Given the description of an element on the screen output the (x, y) to click on. 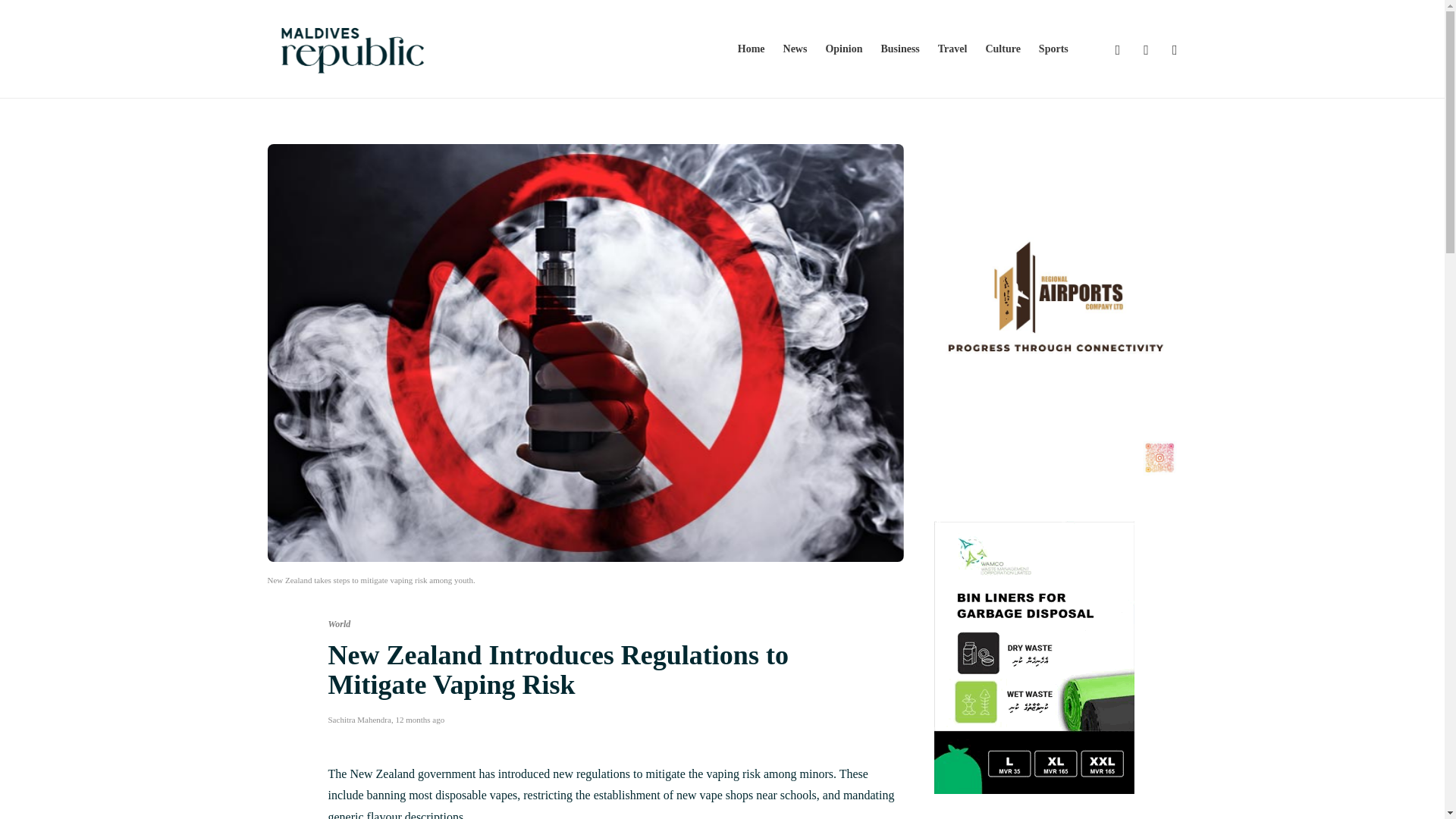
World (338, 624)
New Zealand Introduces Regulations to Mitigate Vaping Risk (603, 673)
12 months ago (419, 718)
Sachitra Mahendra (358, 718)
